Given the description of an element on the screen output the (x, y) to click on. 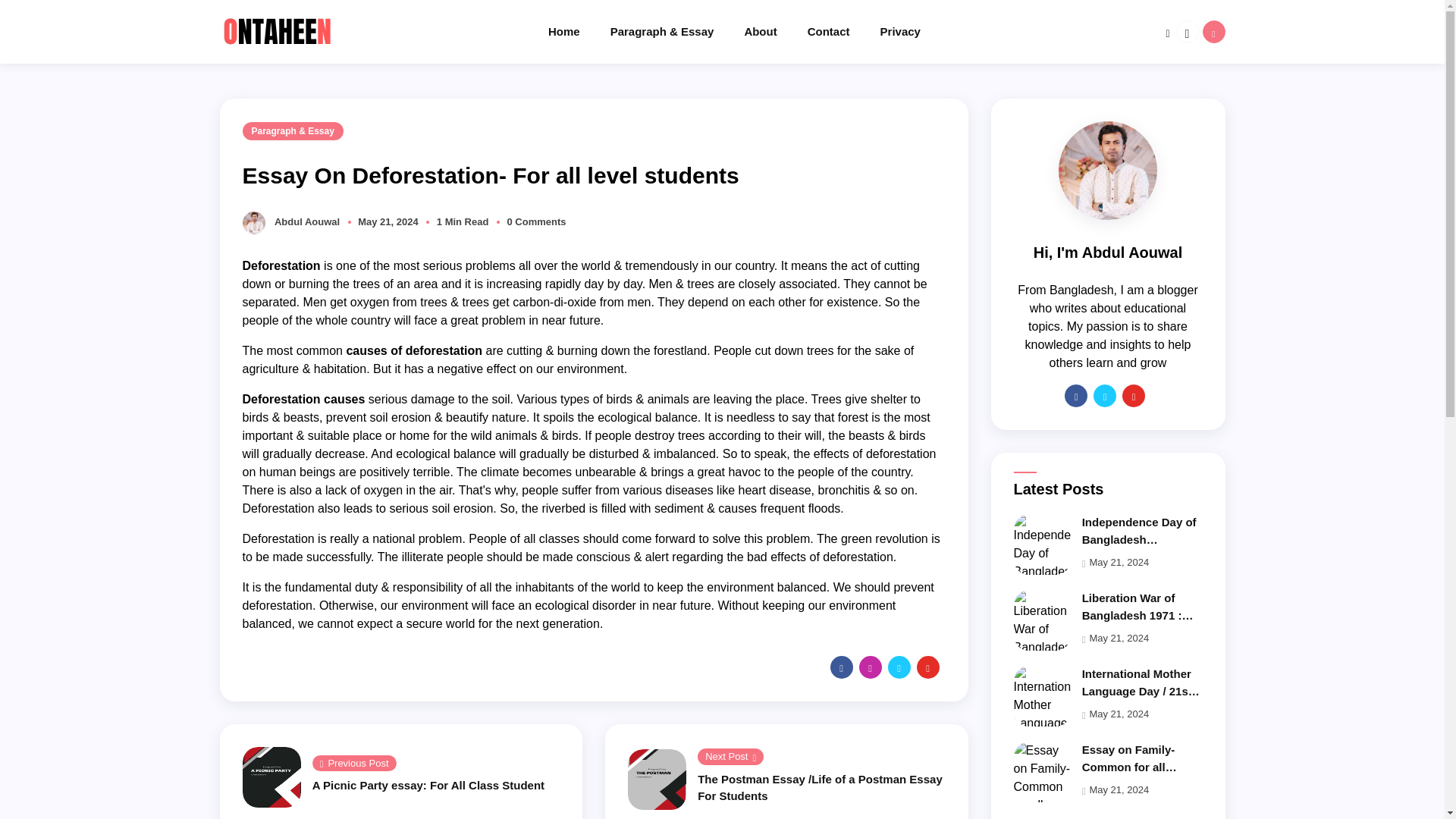
Next Post (729, 756)
Independence Day of Bangladesh Paragraph (1138, 538)
Contact (844, 31)
A Picnic Party essay: For All Class Student (428, 784)
Privacy (915, 31)
Previous Post (354, 763)
Essay on Family- Common for all students (1127, 766)
Home (579, 31)
About (775, 31)
